Given the description of an element on the screen output the (x, y) to click on. 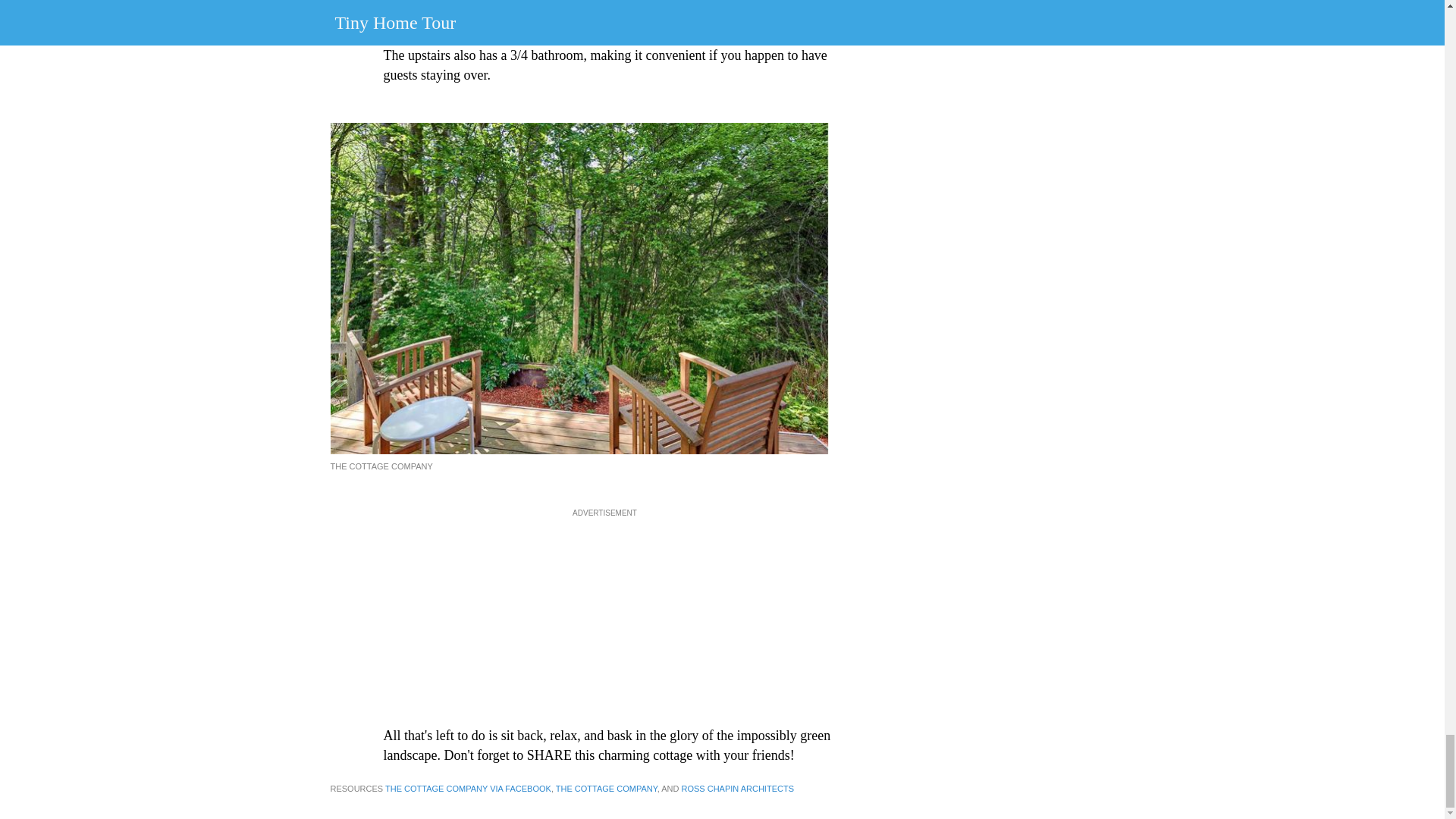
THE COTTAGE COMPANY (381, 3)
THE COTTAGE COMPANY (607, 788)
ROSS CHAPIN ARCHITECTS (737, 788)
THE COTTAGE COMPANY VIA FACEBOOK (468, 788)
THE COTTAGE COMPANY (381, 465)
